Given the description of an element on the screen output the (x, y) to click on. 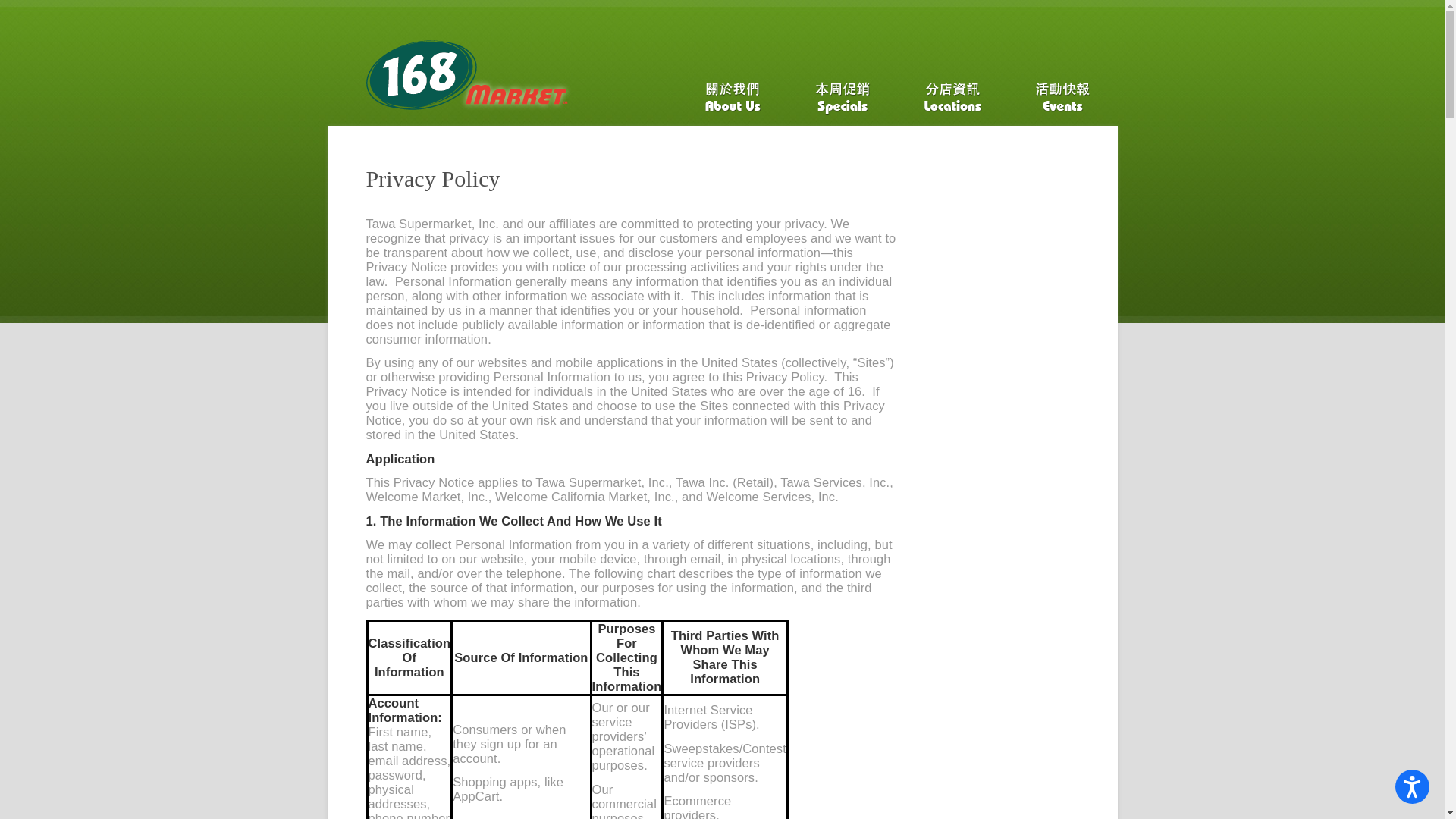
168 Market Element type: text (475, 81)
